Given the description of an element on the screen output the (x, y) to click on. 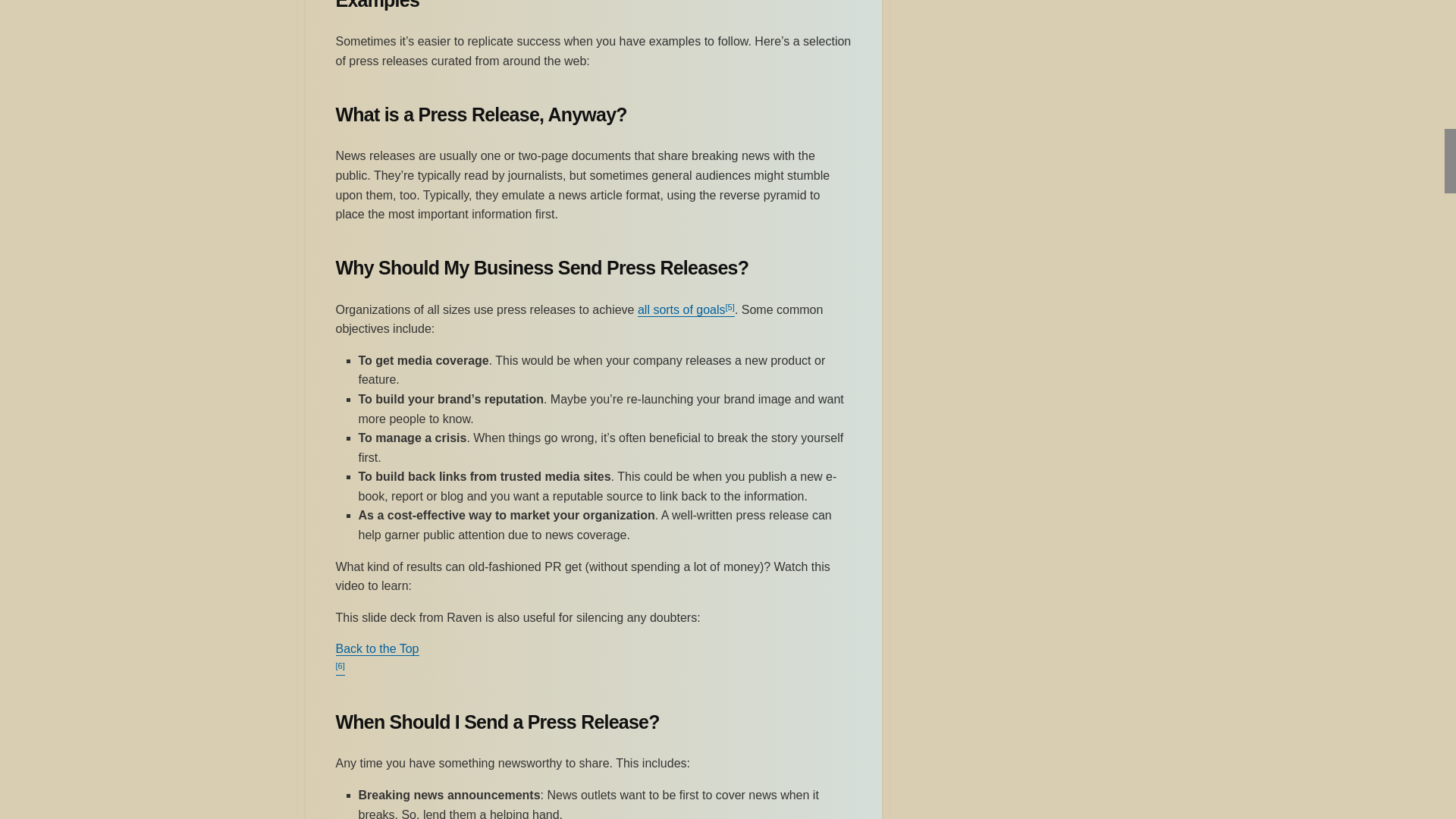
all sorts of goals (681, 309)
Back to the Top (376, 648)
